Given the description of an element on the screen output the (x, y) to click on. 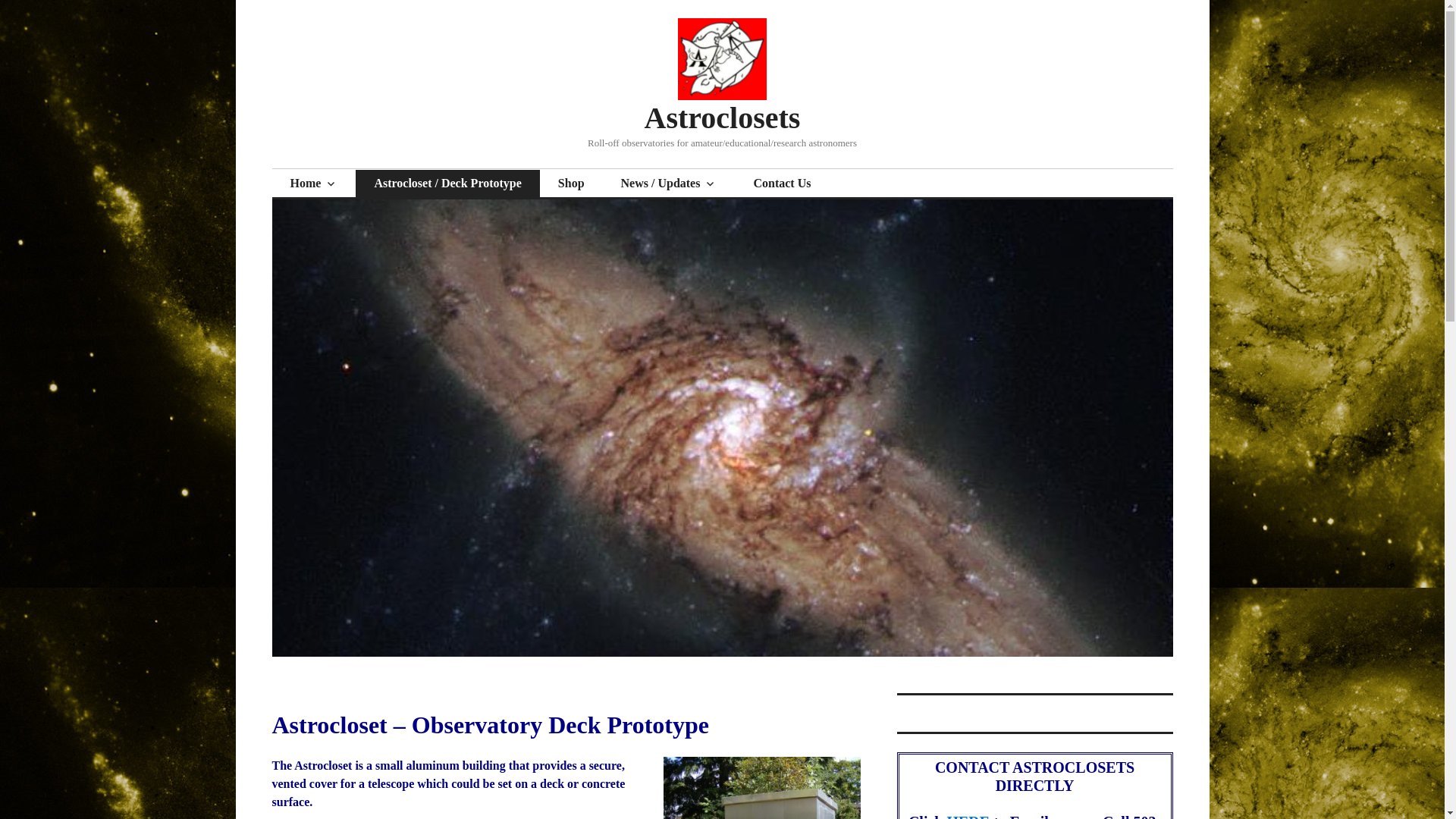
Astroclosets, Your Custom Backy (312, 183)
Astroclosets (722, 117)
Contact Us (781, 183)
HERE (969, 816)
Shop (571, 183)
Home (312, 183)
